Given the description of an element on the screen output the (x, y) to click on. 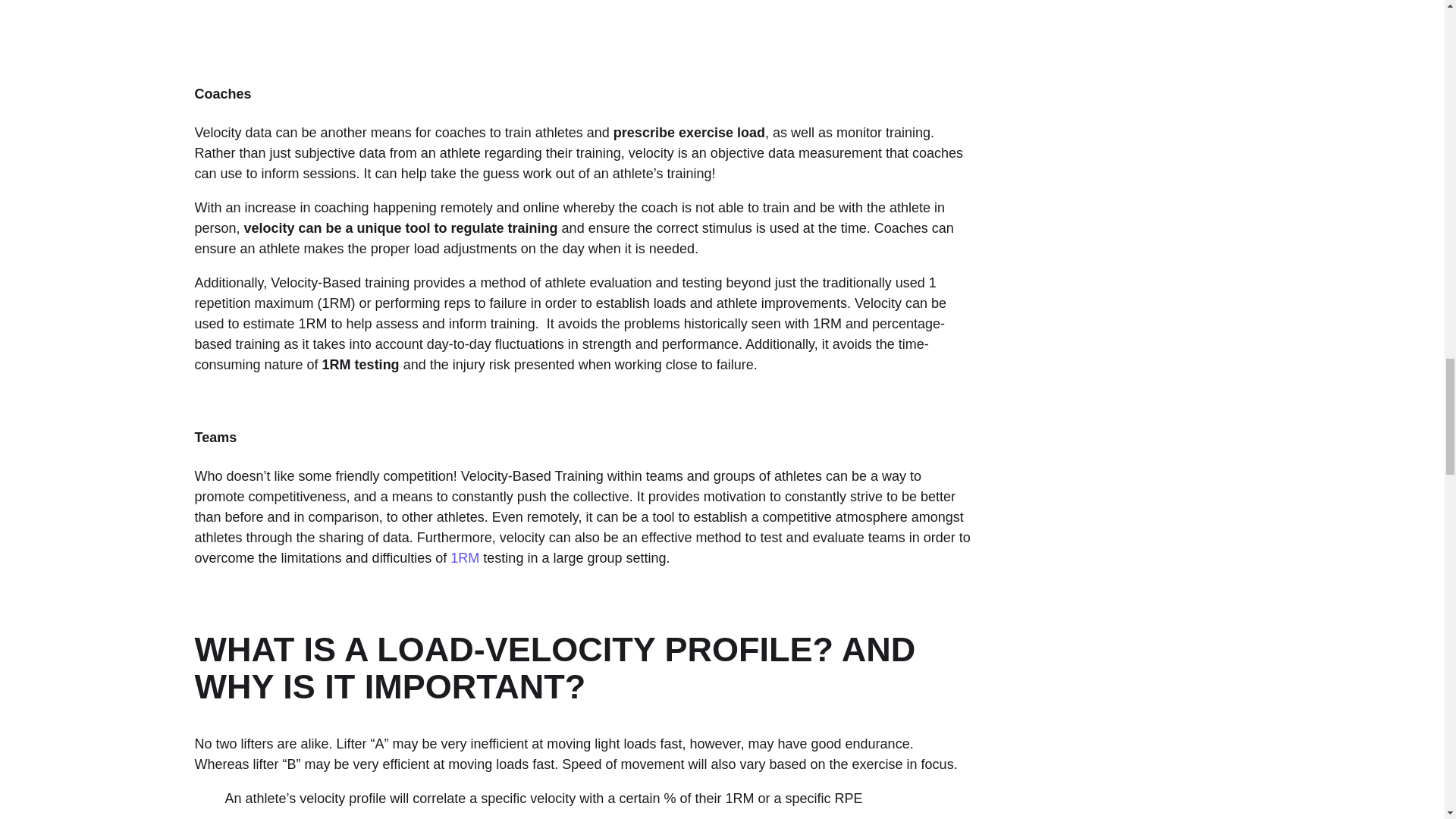
1RM (464, 557)
